Given the description of an element on the screen output the (x, y) to click on. 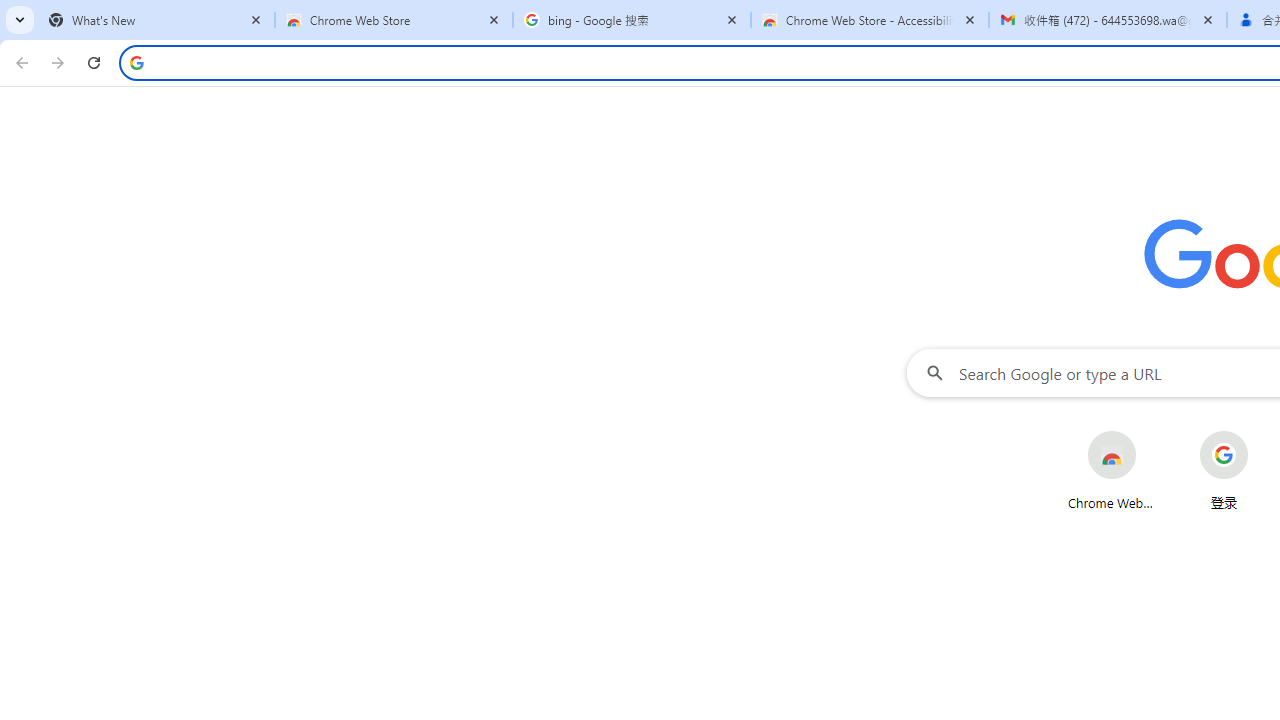
What's New (156, 20)
Chrome Web Store (394, 20)
Chrome Web Store (1111, 470)
More actions for Chrome Web Store shortcut (1151, 433)
Chrome Web Store - Accessibility (870, 20)
